Given the description of an element on the screen output the (x, y) to click on. 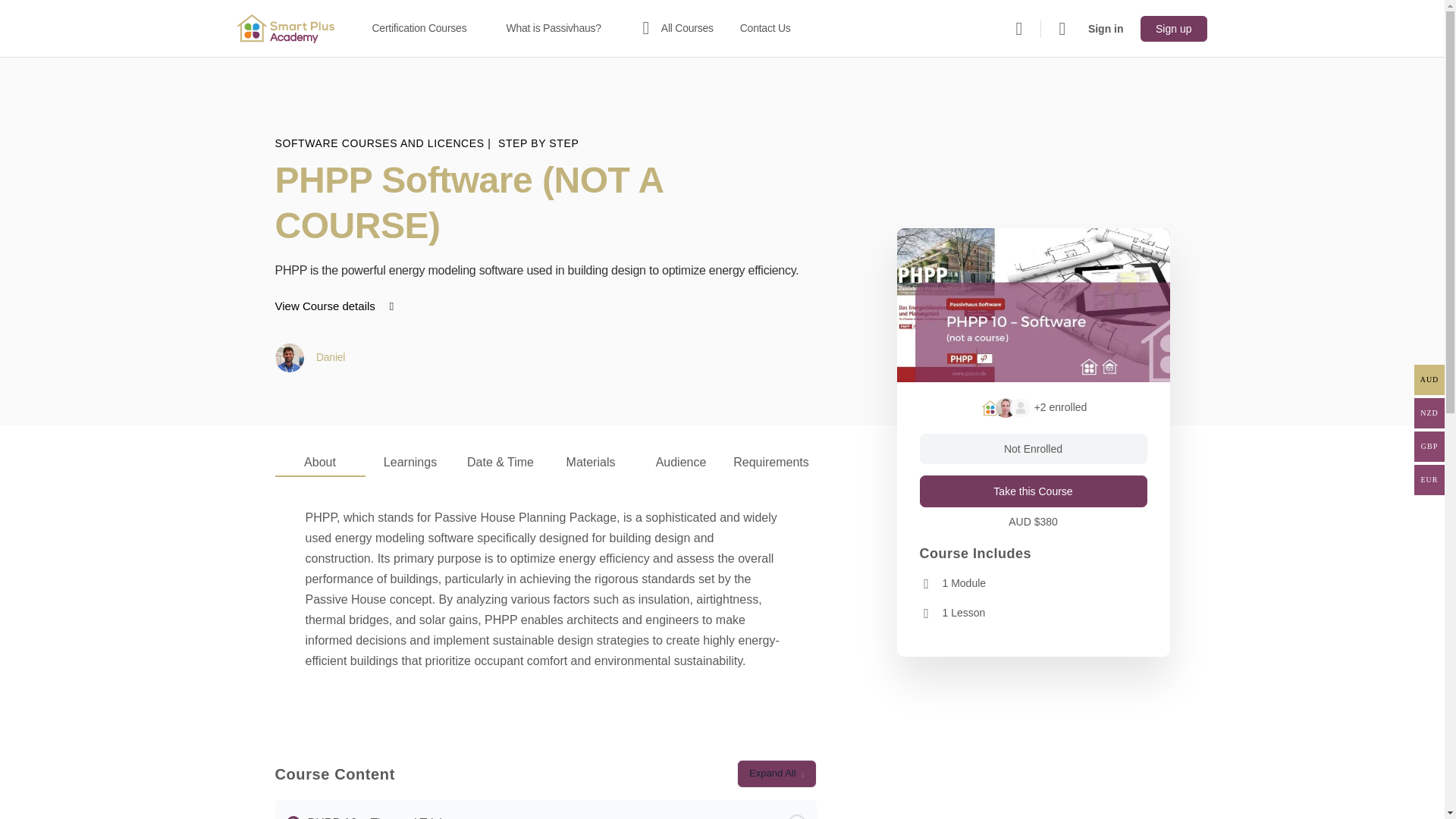
Sign in (1105, 28)
Certification Courses (425, 28)
Sign up (1173, 28)
All Courses (674, 28)
What is Passivhaus? (559, 28)
Step by Step (537, 143)
Contact Us (771, 28)
Software Courses and Licences (381, 143)
